Given the description of an element on the screen output the (x, y) to click on. 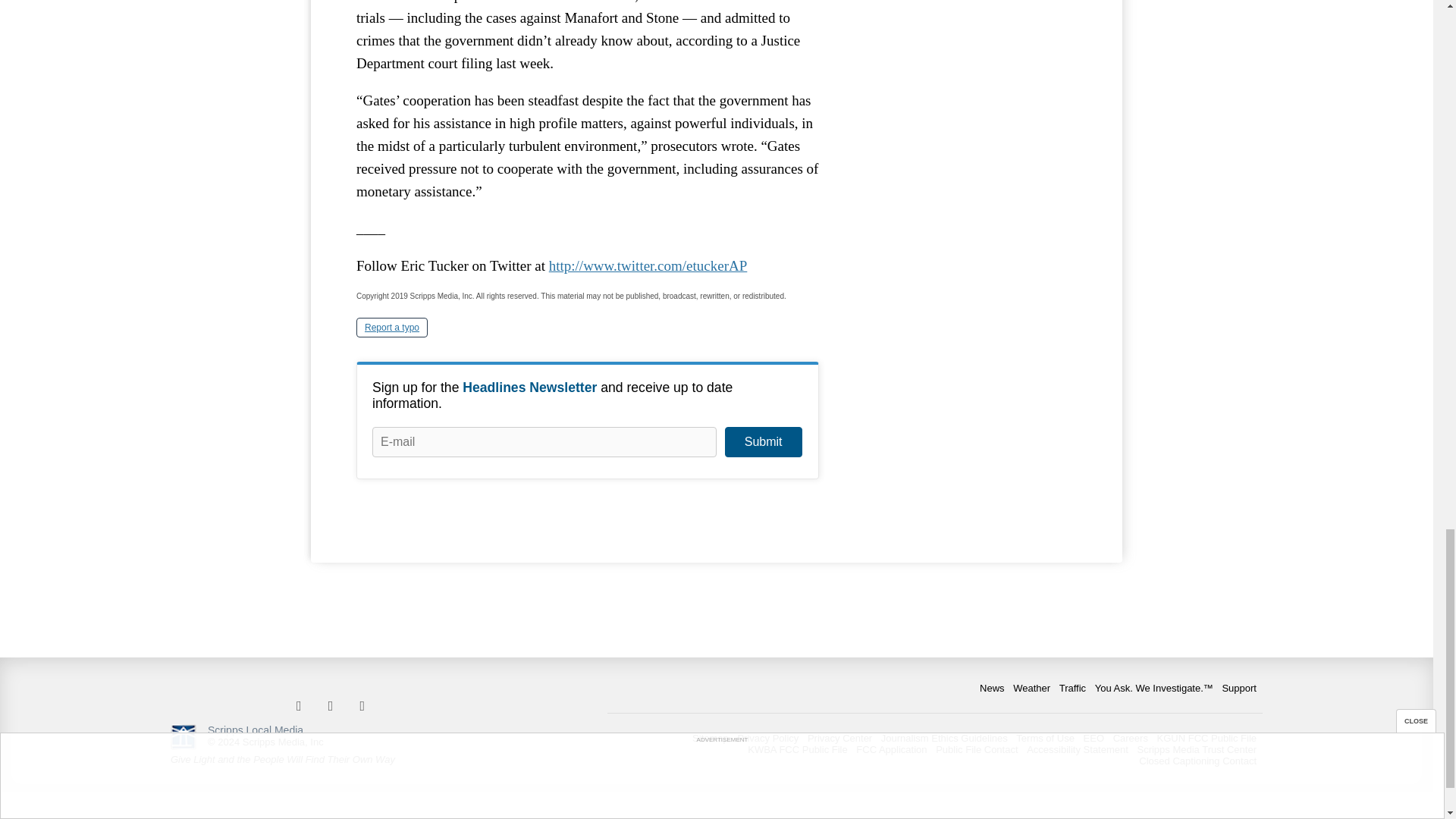
Submit (763, 441)
